Given the description of an element on the screen output the (x, y) to click on. 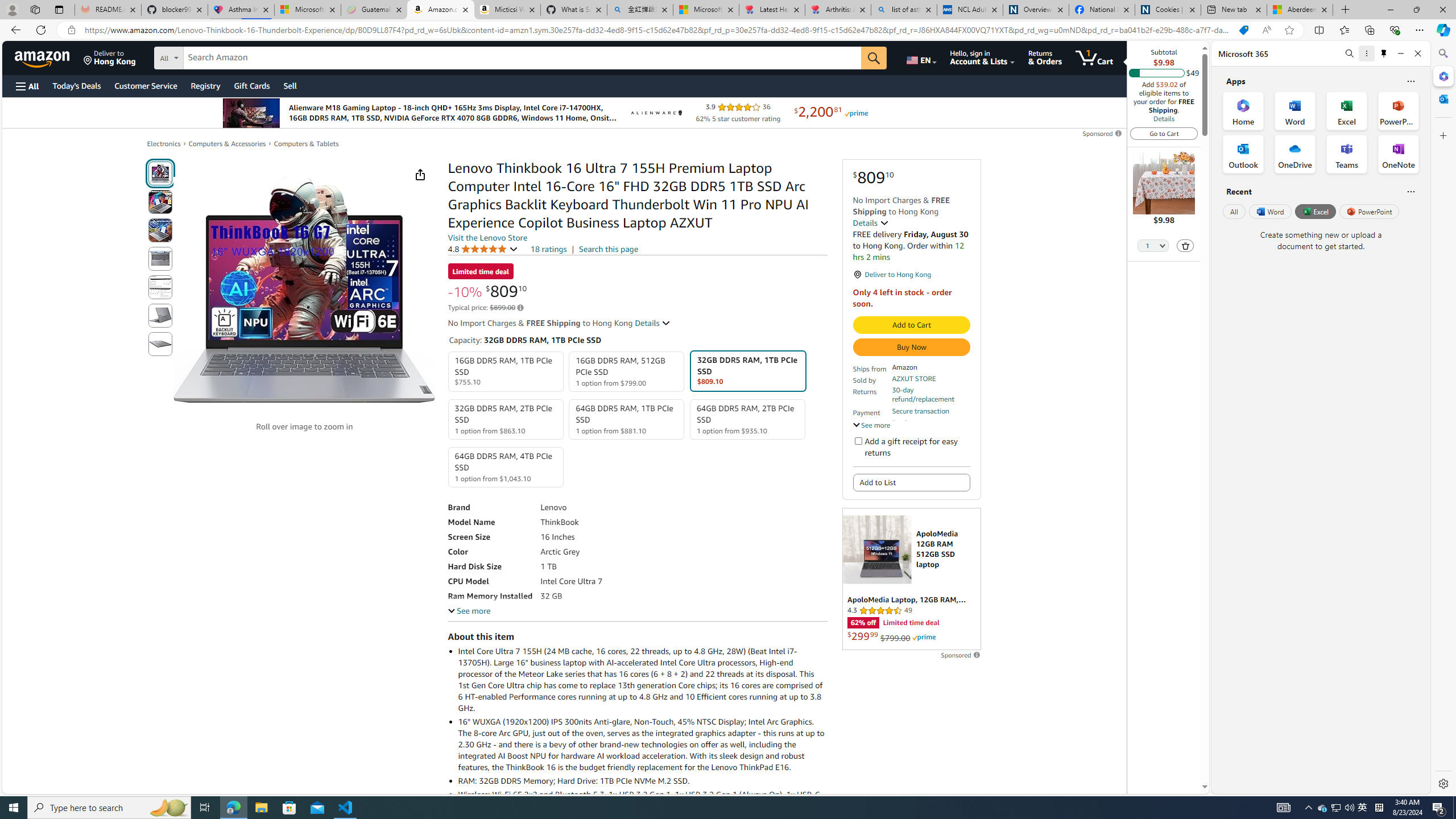
Search in (210, 56)
Computers & Accessories (226, 143)
Visit the Lenovo Store (486, 237)
32GB DDR5 RAM, 1TB PCIe SSD $809.10 (747, 370)
Returns & Orders (1045, 57)
OneDrive Office App (1295, 154)
Secure transaction (920, 411)
